Given the description of an element on the screen output the (x, y) to click on. 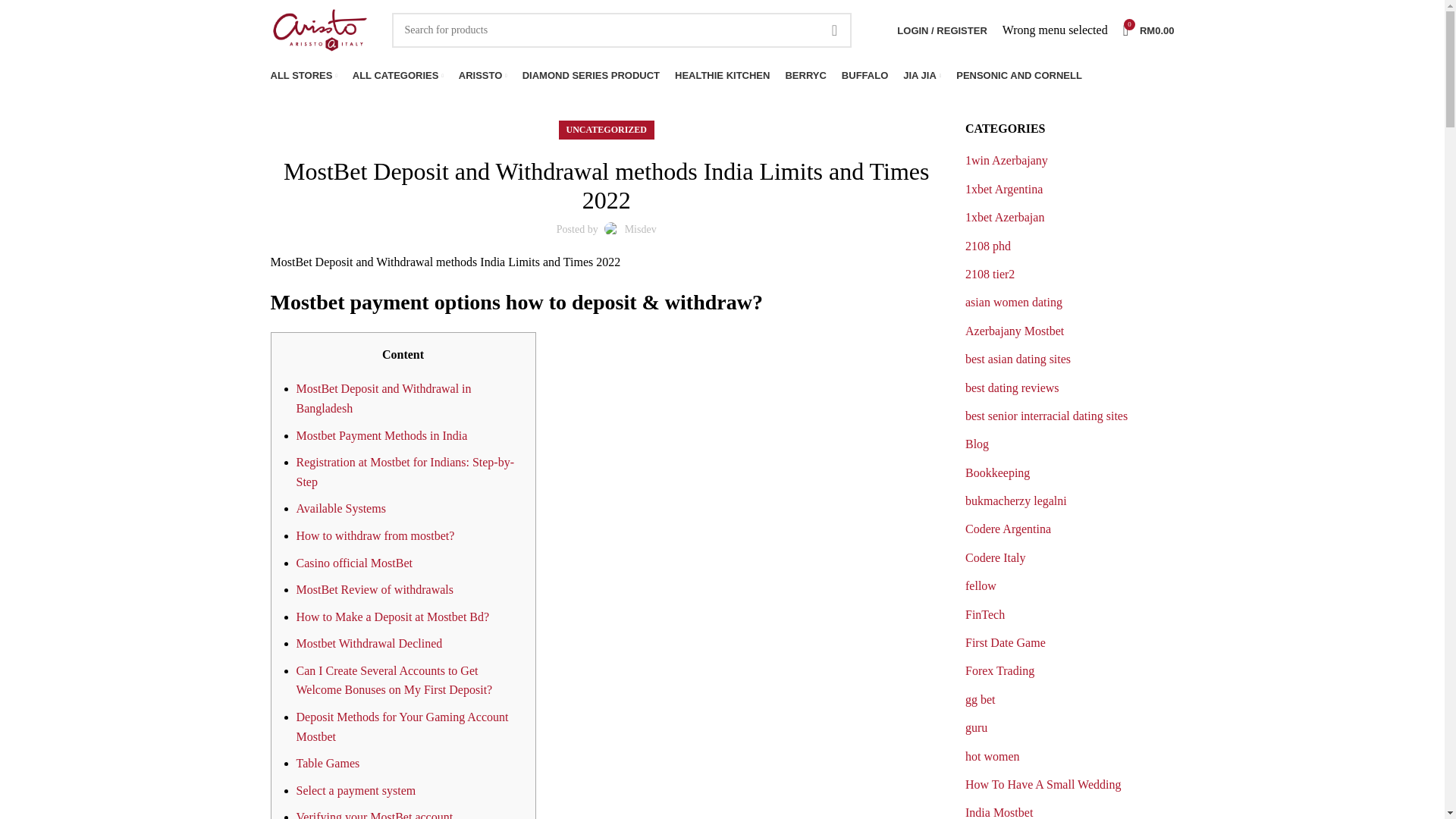
Search for products (621, 30)
Log in (861, 278)
My account (941, 30)
Shopping cart (1148, 30)
ALL STORES (1148, 30)
SEARCH (302, 75)
